Given the description of an element on the screen output the (x, y) to click on. 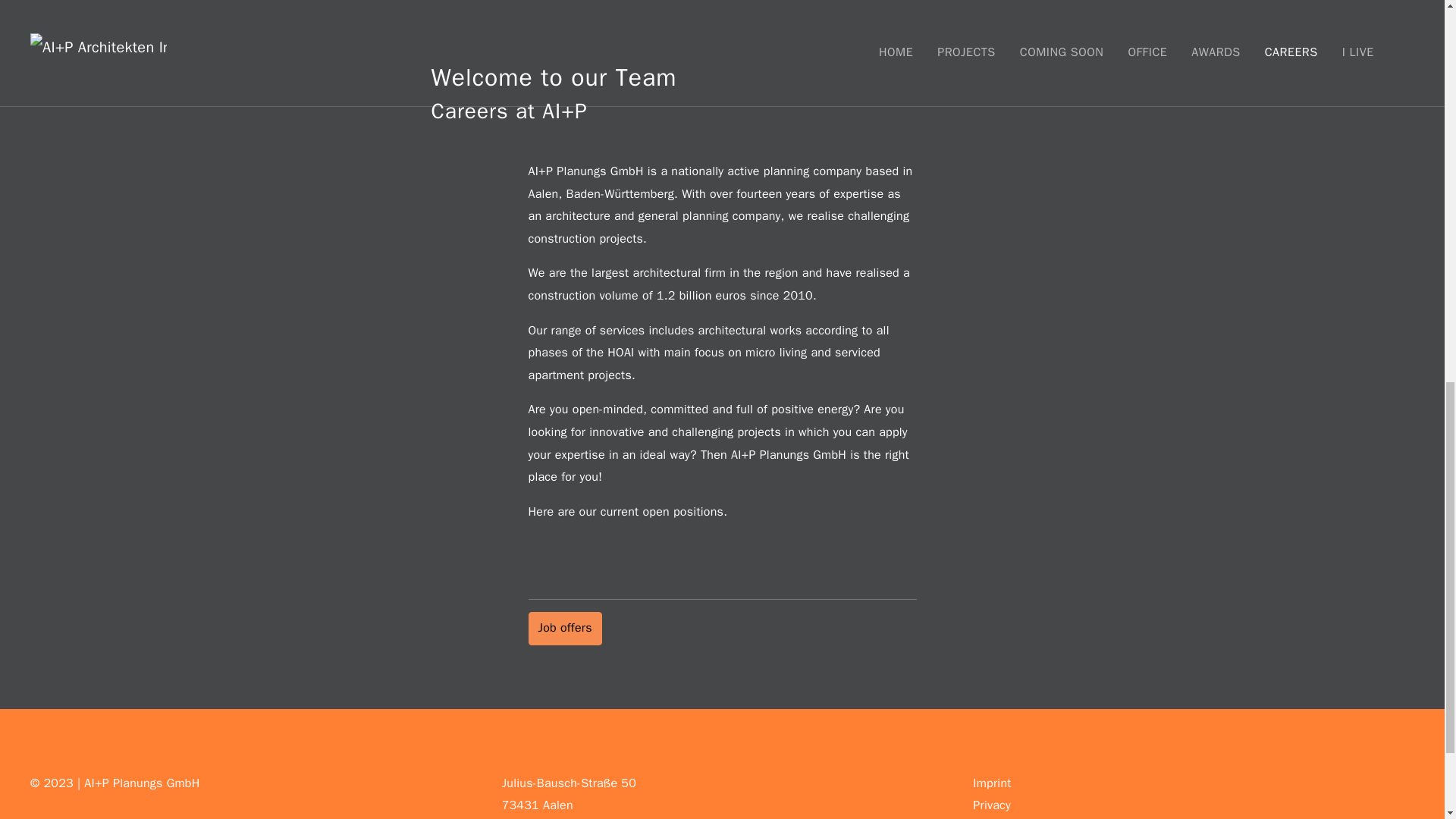
Imprint (991, 783)
Job offers (564, 628)
Privacy (991, 805)
